Given the description of an element on the screen output the (x, y) to click on. 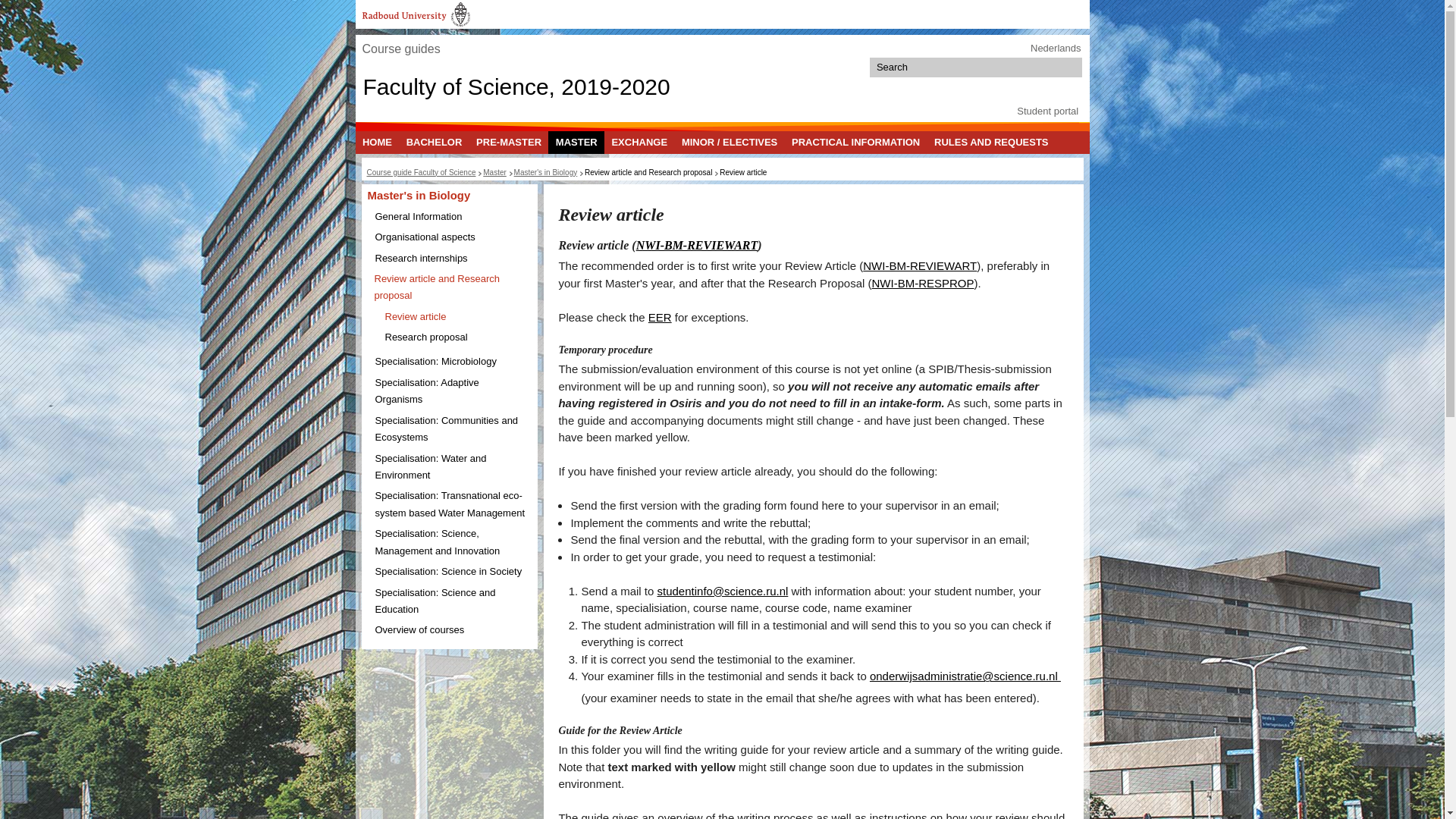
Faculty of Science, 2019-2020 (515, 85)
Nederlands (1055, 48)
BACHELOR (434, 141)
HOME (376, 141)
Student portal (1047, 110)
Course guides (400, 48)
Search (1070, 66)
Radboud University (415, 14)
